Given the description of an element on the screen output the (x, y) to click on. 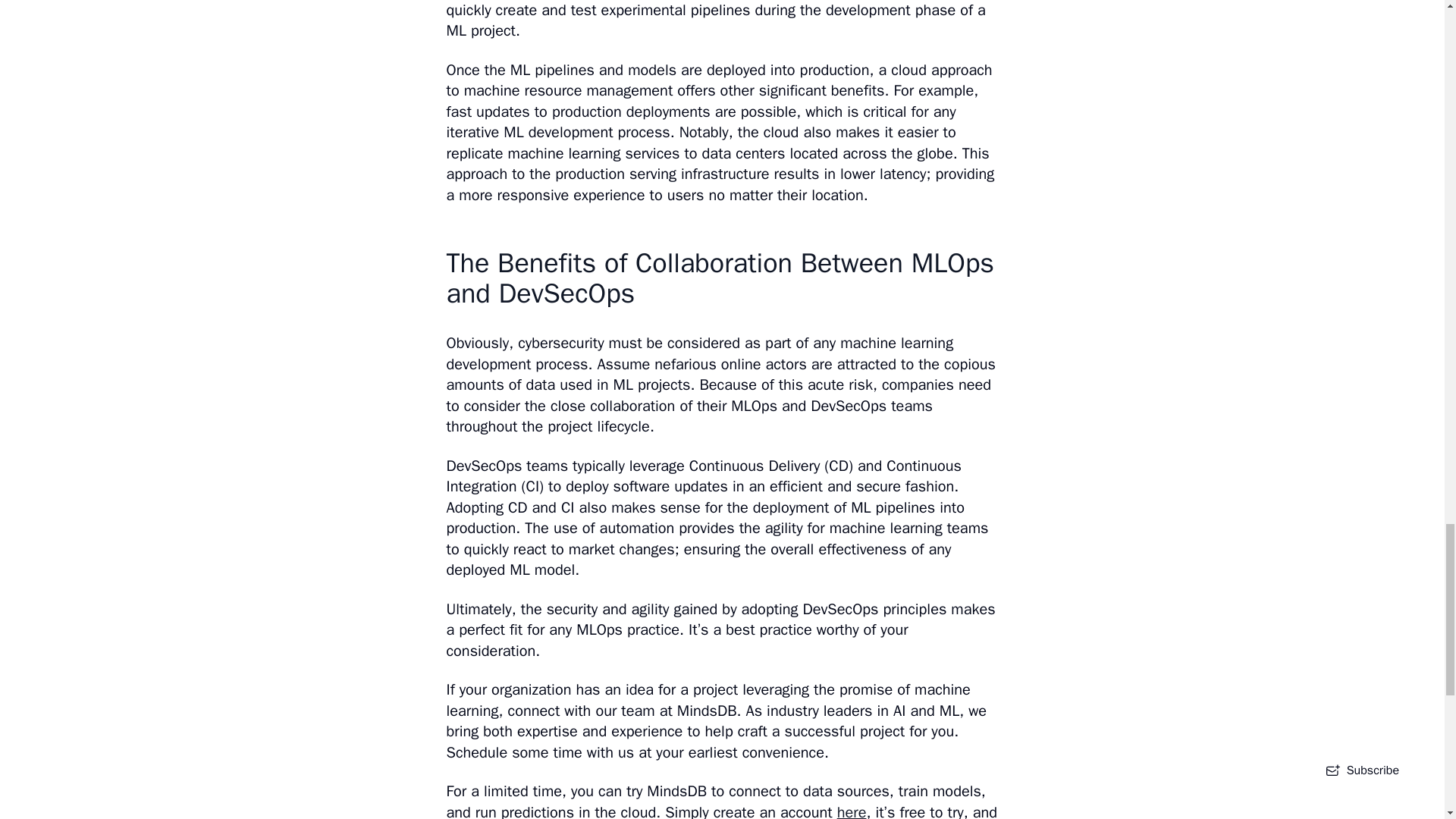
here (851, 811)
